Given the description of an element on the screen output the (x, y) to click on. 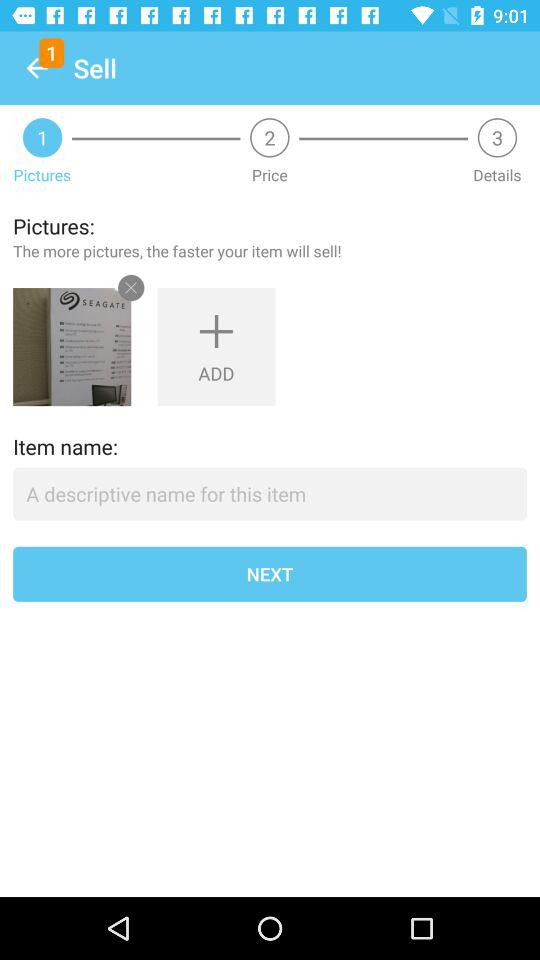
item search (269, 493)
